Given the description of an element on the screen output the (x, y) to click on. 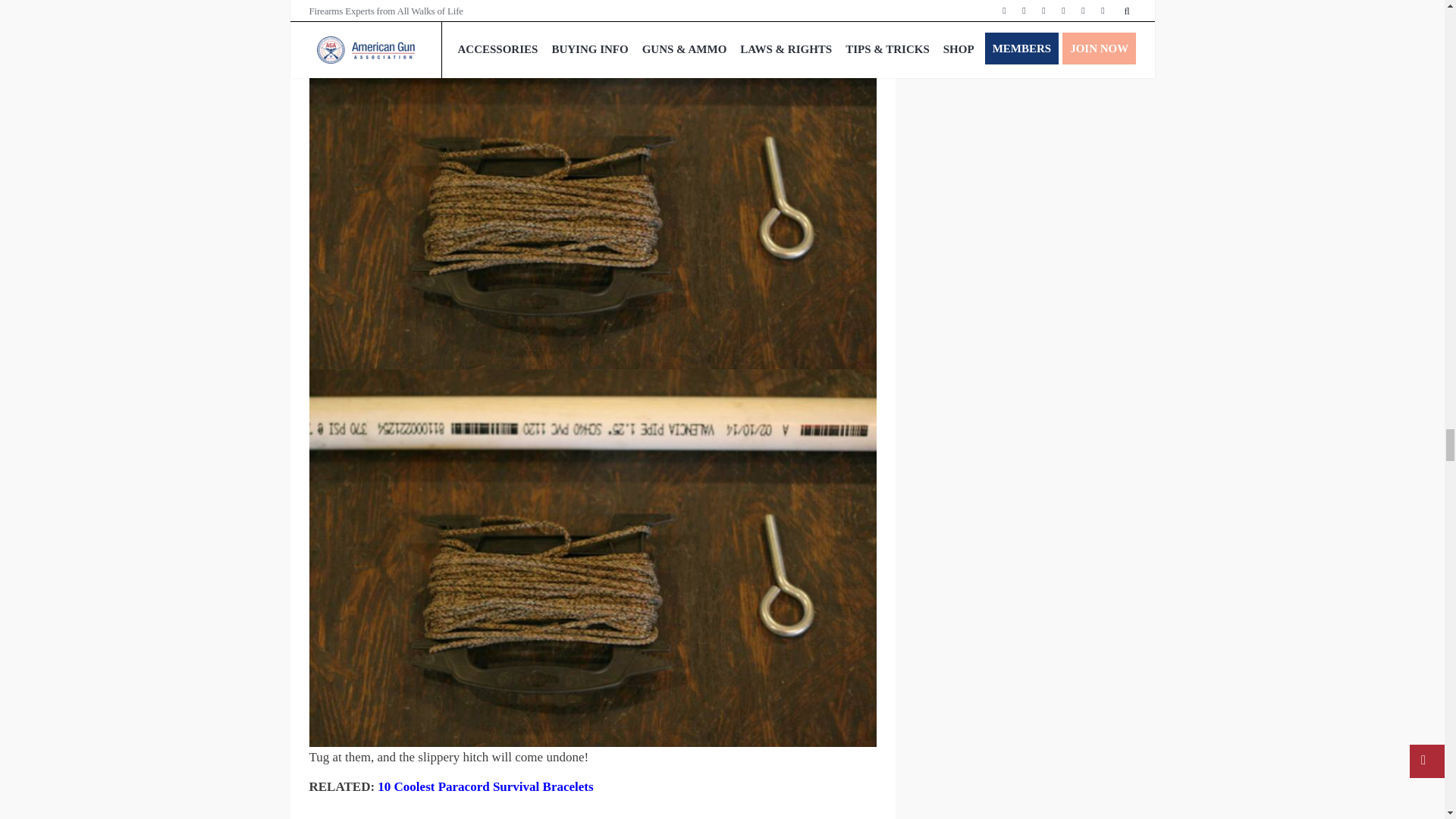
10 Coolest Paracord Survival Bracelets (484, 786)
